Given the description of an element on the screen output the (x, y) to click on. 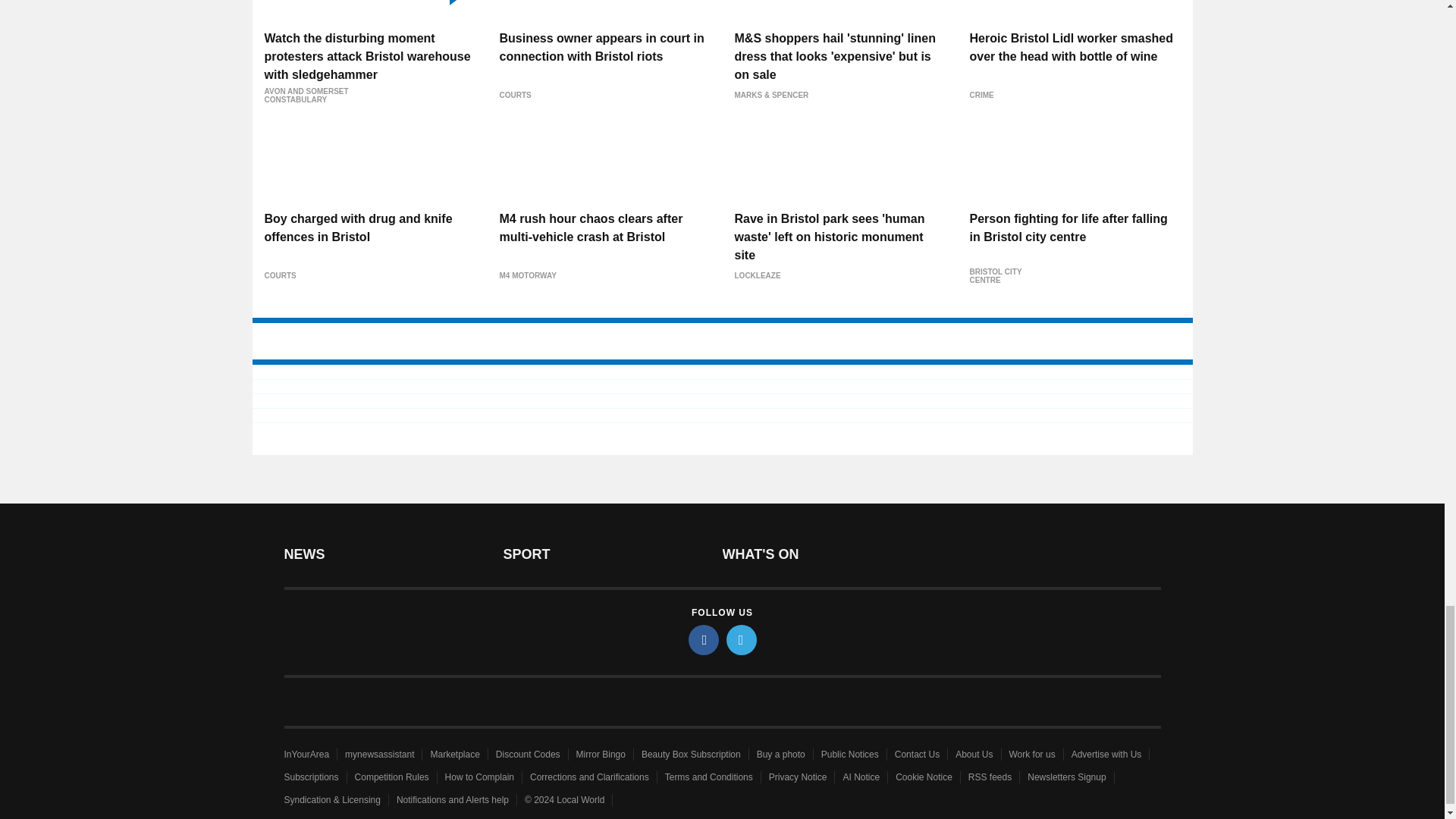
twitter (741, 639)
facebook (703, 639)
